Given the description of an element on the screen output the (x, y) to click on. 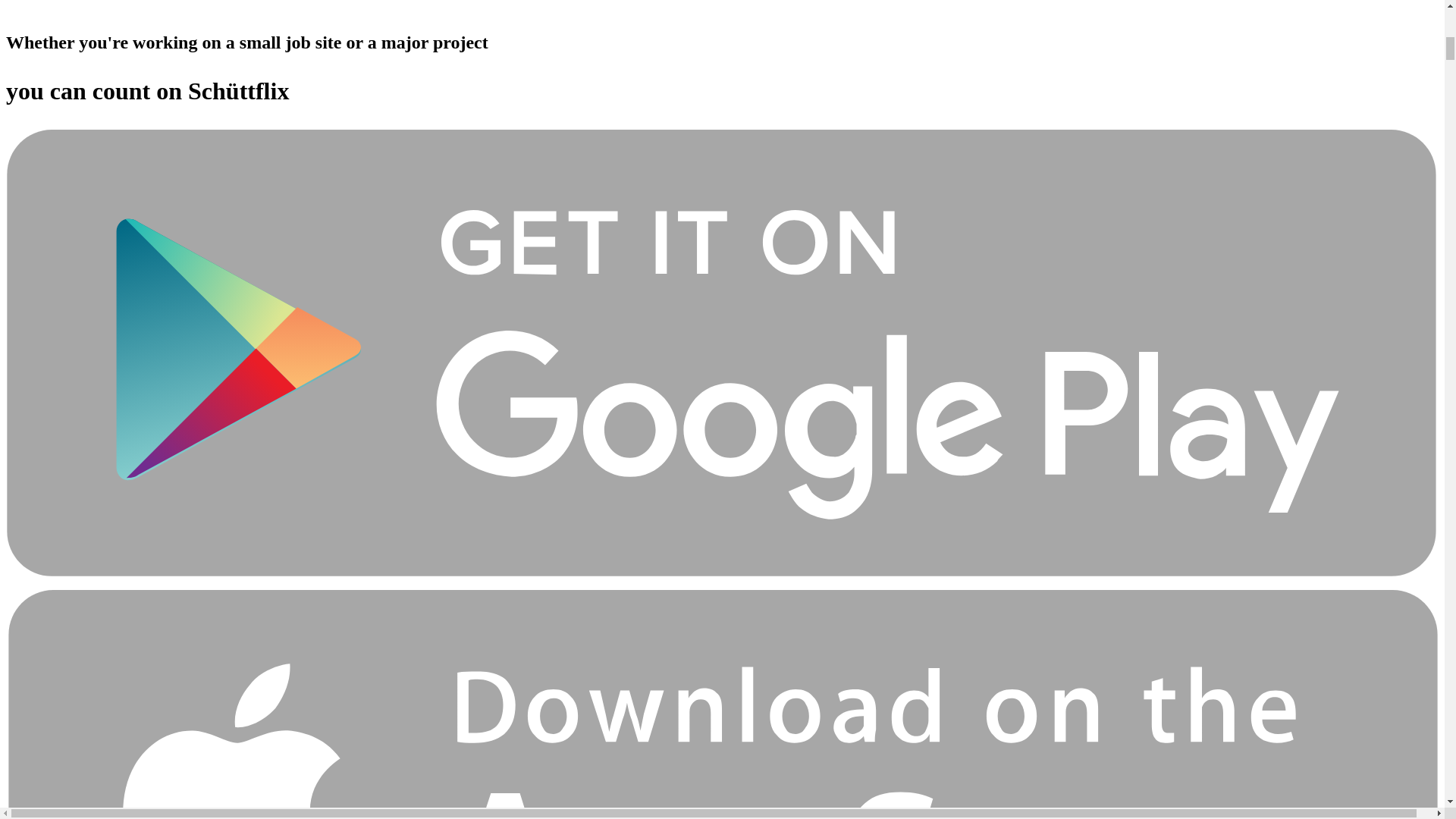
Register Now (721, 8)
